Given the description of an element on the screen output the (x, y) to click on. 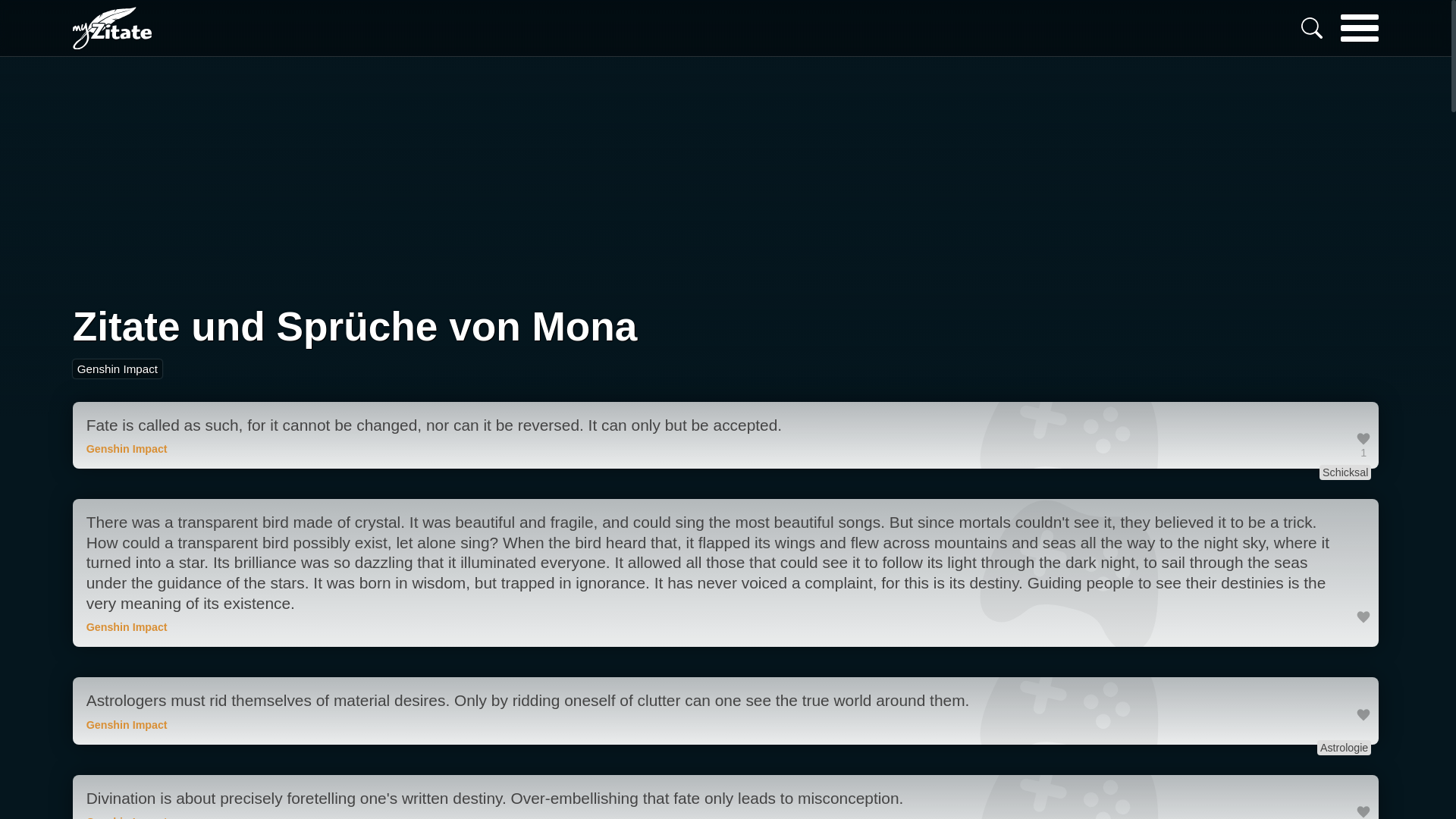
Schicksal (1345, 472)
Genshin Impact (126, 626)
Genshin Impact (126, 449)
Astrologie (1344, 747)
Genshin Impact (126, 725)
Genshin Impact (126, 817)
Genshin Impact (116, 368)
